Given the description of an element on the screen output the (x, y) to click on. 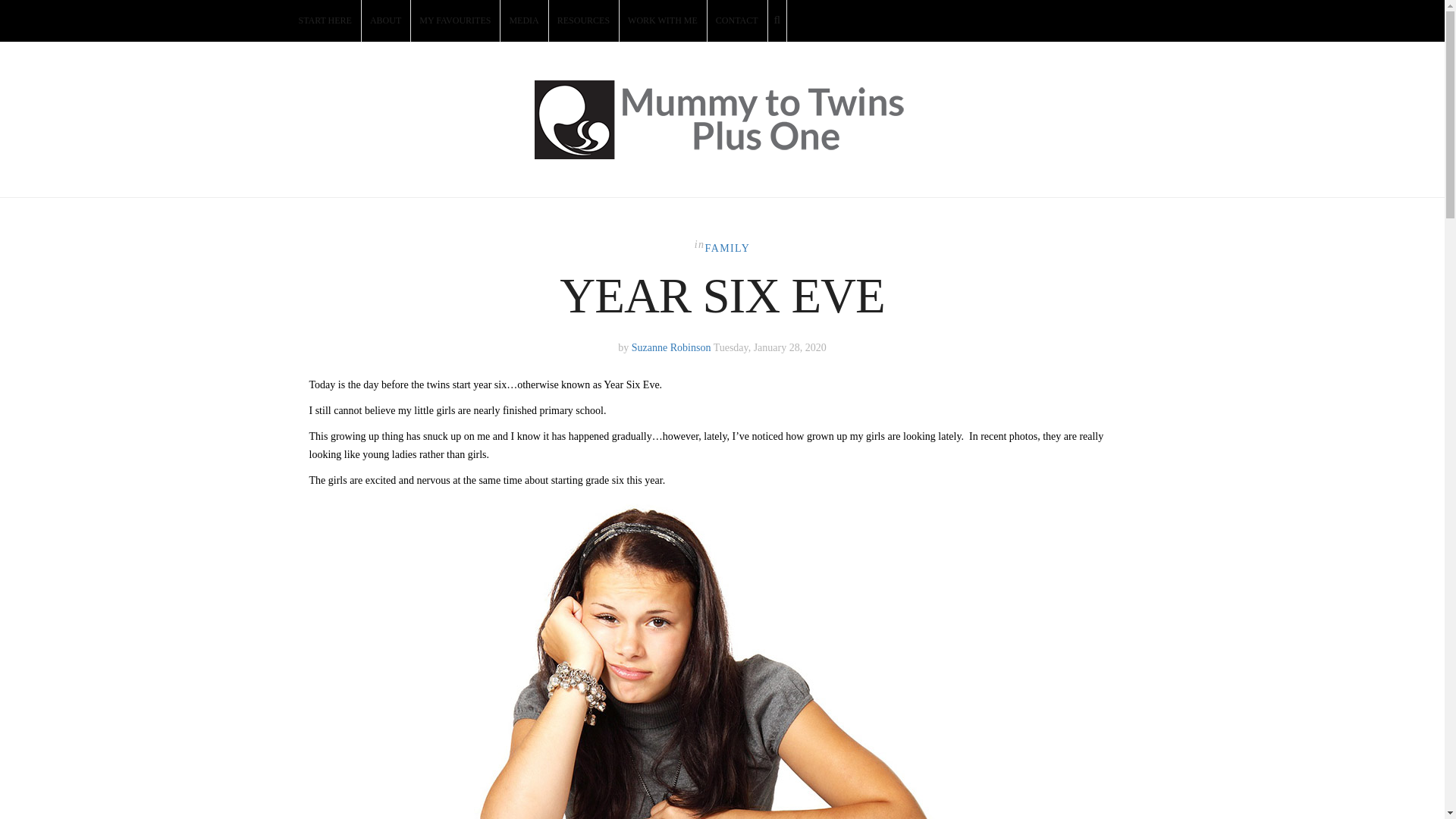
CONTACT (737, 20)
Posts by Suzanne Robinson (671, 347)
RESOURCES (584, 20)
MEDIA (524, 20)
WORK WITH ME (663, 20)
START HERE (325, 20)
FAMILY (727, 247)
MY FAVOURITES (455, 20)
Suzanne Robinson (671, 347)
ABOUT (385, 20)
